Given the description of an element on the screen output the (x, y) to click on. 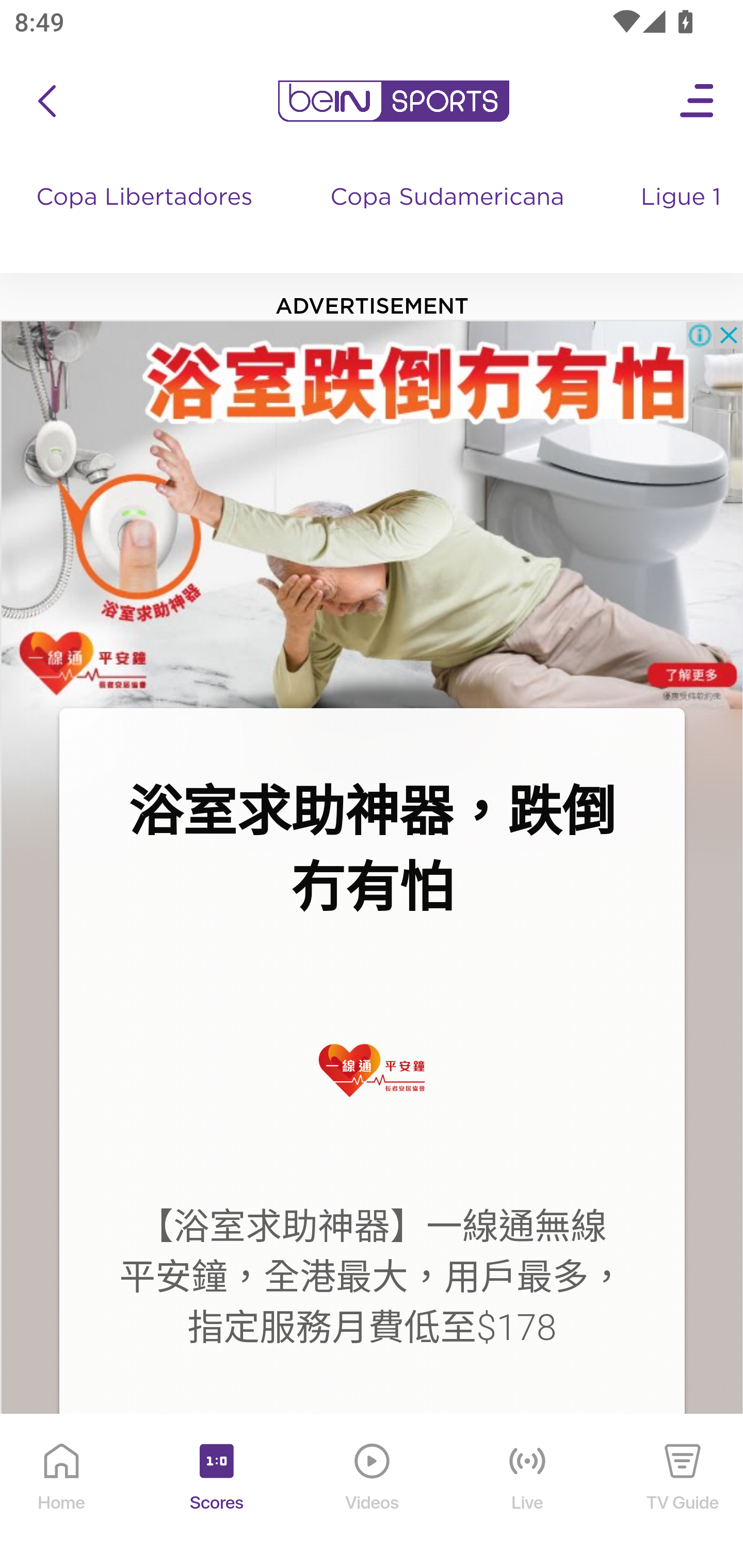
en-us?platform=mobile_android bein logo (392, 101)
icon back (46, 101)
Open Menu Icon (697, 101)
Copa Libertadores (146, 216)
Copa Sudamericana (448, 216)
Ligue 1 (682, 216)
浴室求助神器，跌倒 冇有怕 浴室求助神器，跌倒 冇有怕 (371, 849)
Home Home Icon Home (61, 1491)
Scores Scores Icon Scores (216, 1491)
Videos Videos Icon Videos (372, 1491)
TV Guide TV Guide Icon TV Guide (682, 1491)
